Given the description of an element on the screen output the (x, y) to click on. 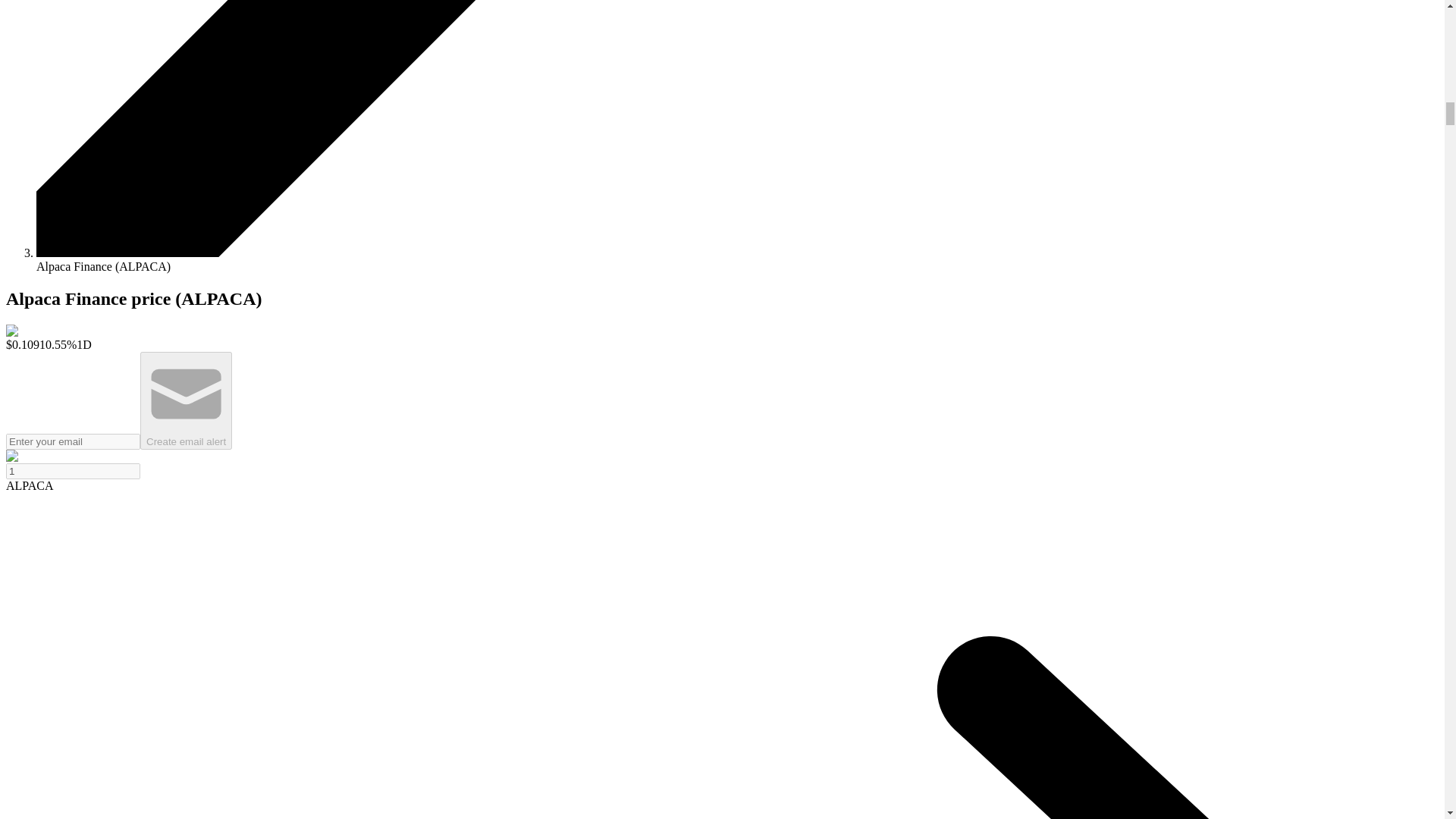
Create email alert (185, 400)
1 (72, 471)
